Given the description of an element on the screen output the (x, y) to click on. 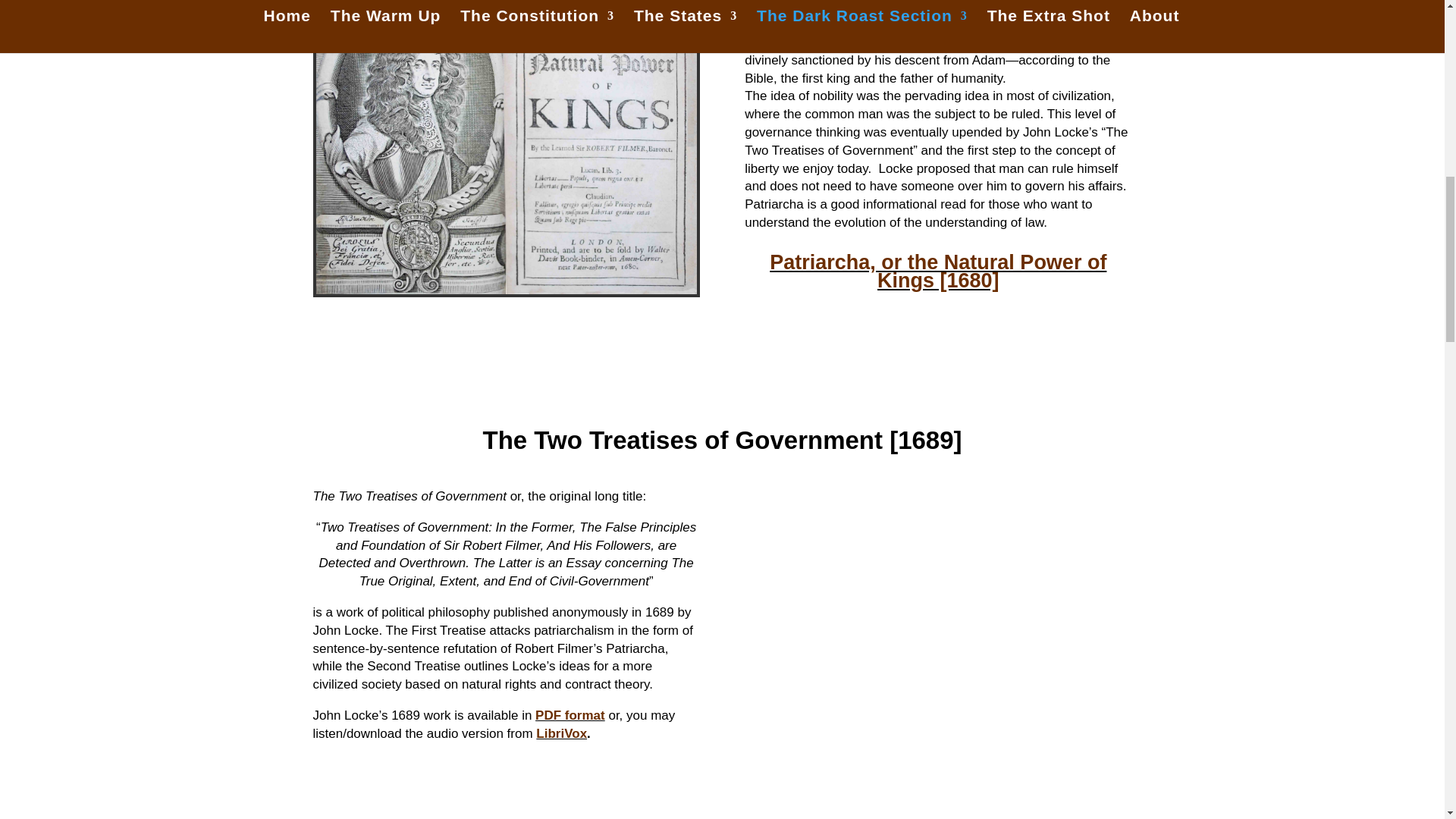
Two Treatises of Government With John Locke (937, 644)
PDF format (570, 715)
patriarcha (505, 147)
LibriVox (560, 733)
Flourish 3 (722, 364)
